Given the description of an element on the screen output the (x, y) to click on. 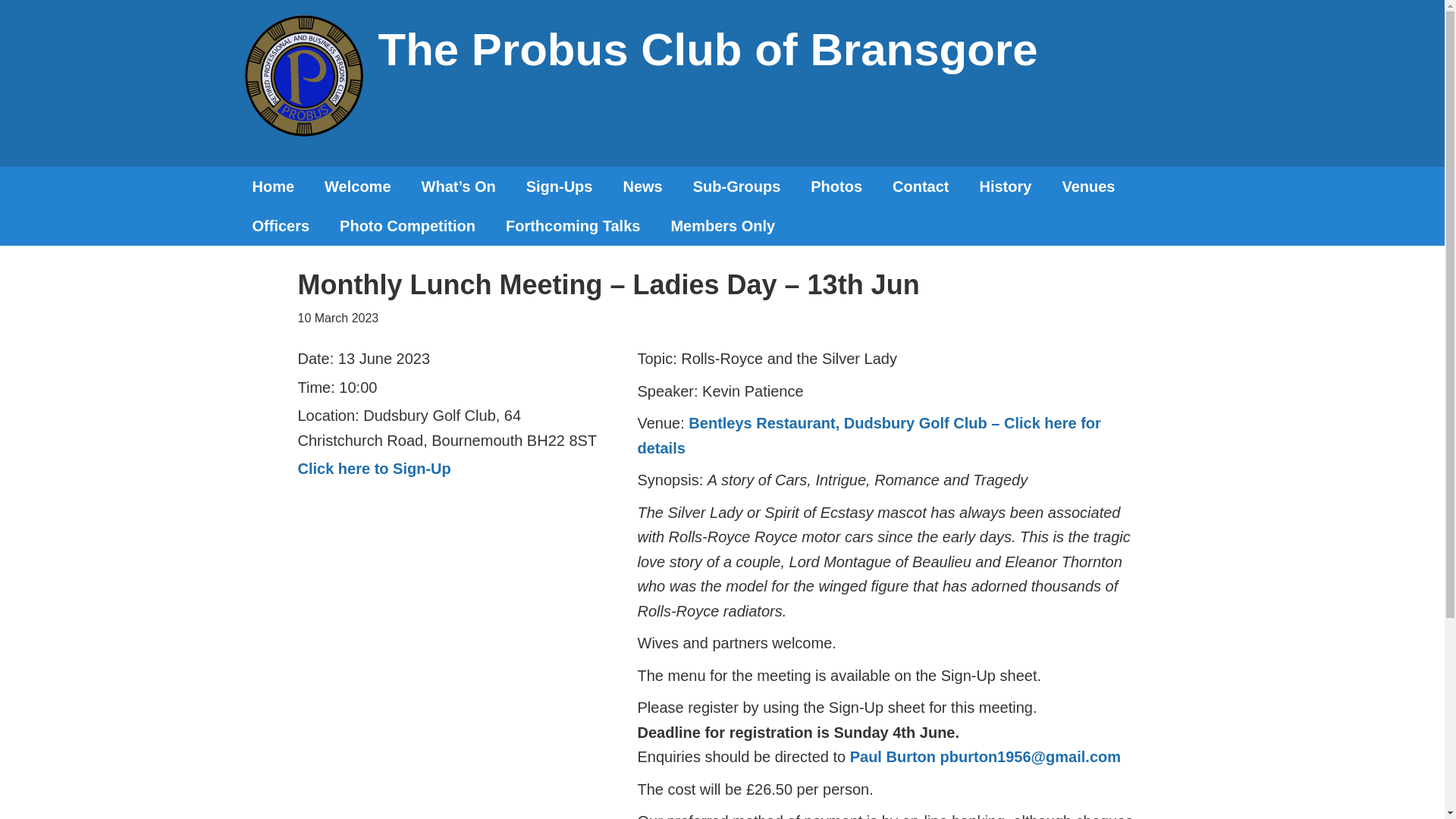
Officers (279, 225)
Sign-Ups (559, 186)
Venues (1087, 186)
The Probus Club of Bransgore (706, 49)
Welcome (357, 186)
Sub-Groups (737, 186)
Photos (835, 186)
Home (271, 186)
History (1004, 186)
